Given the description of an element on the screen output the (x, y) to click on. 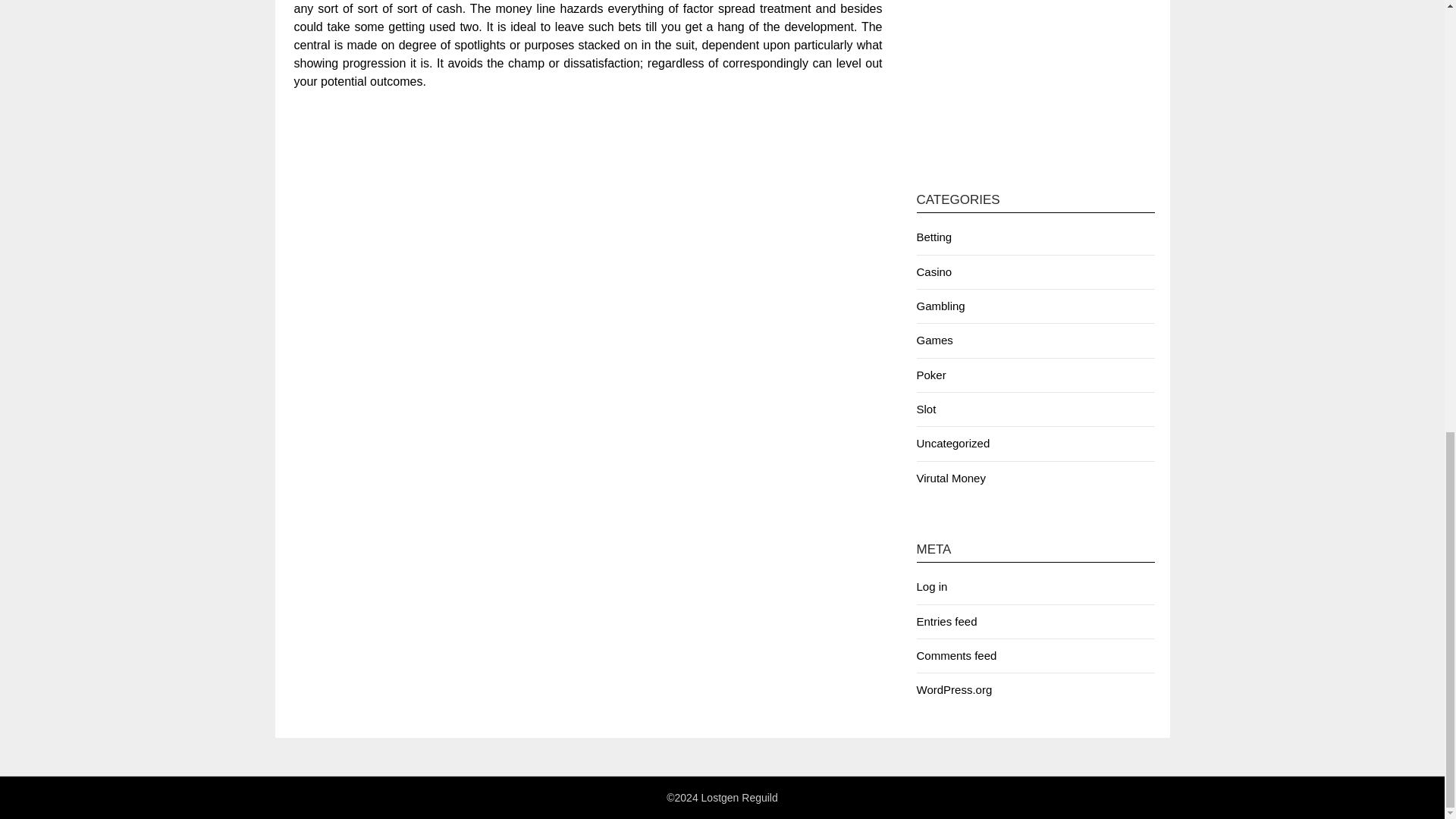
Games (933, 339)
Comments feed (955, 655)
Log in (931, 585)
Casino (933, 271)
WordPress.org (953, 689)
Poker (929, 374)
Virutal Money (950, 477)
Entries feed (945, 621)
Slot (925, 408)
Uncategorized (952, 442)
Gambling (939, 305)
Betting (933, 236)
